Given the description of an element on the screen output the (x, y) to click on. 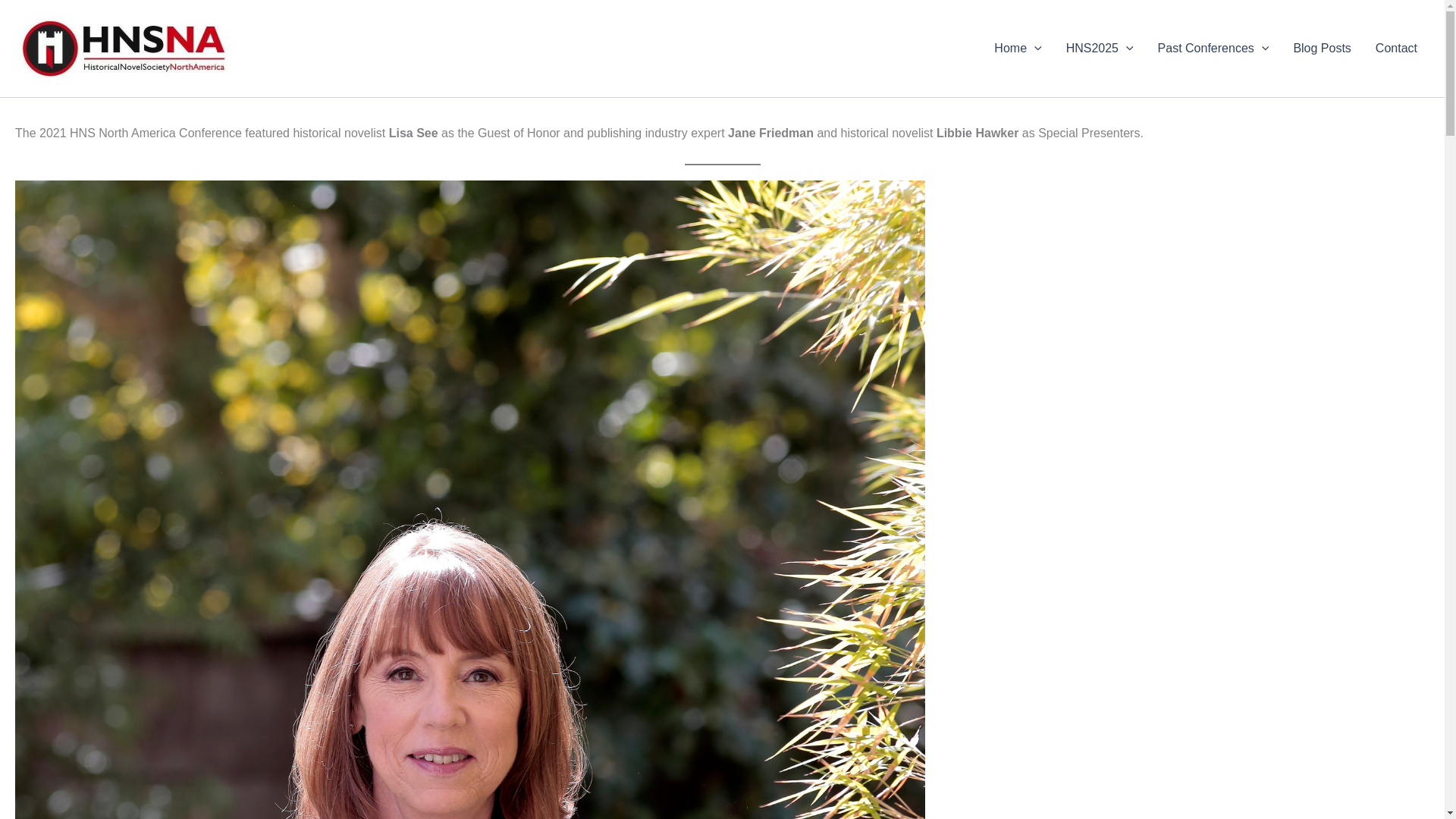
HNS2025 (1099, 48)
Blog Posts (1321, 48)
Contact (1395, 48)
Home (1016, 48)
Past Conferences (1213, 48)
